Given the description of an element on the screen output the (x, y) to click on. 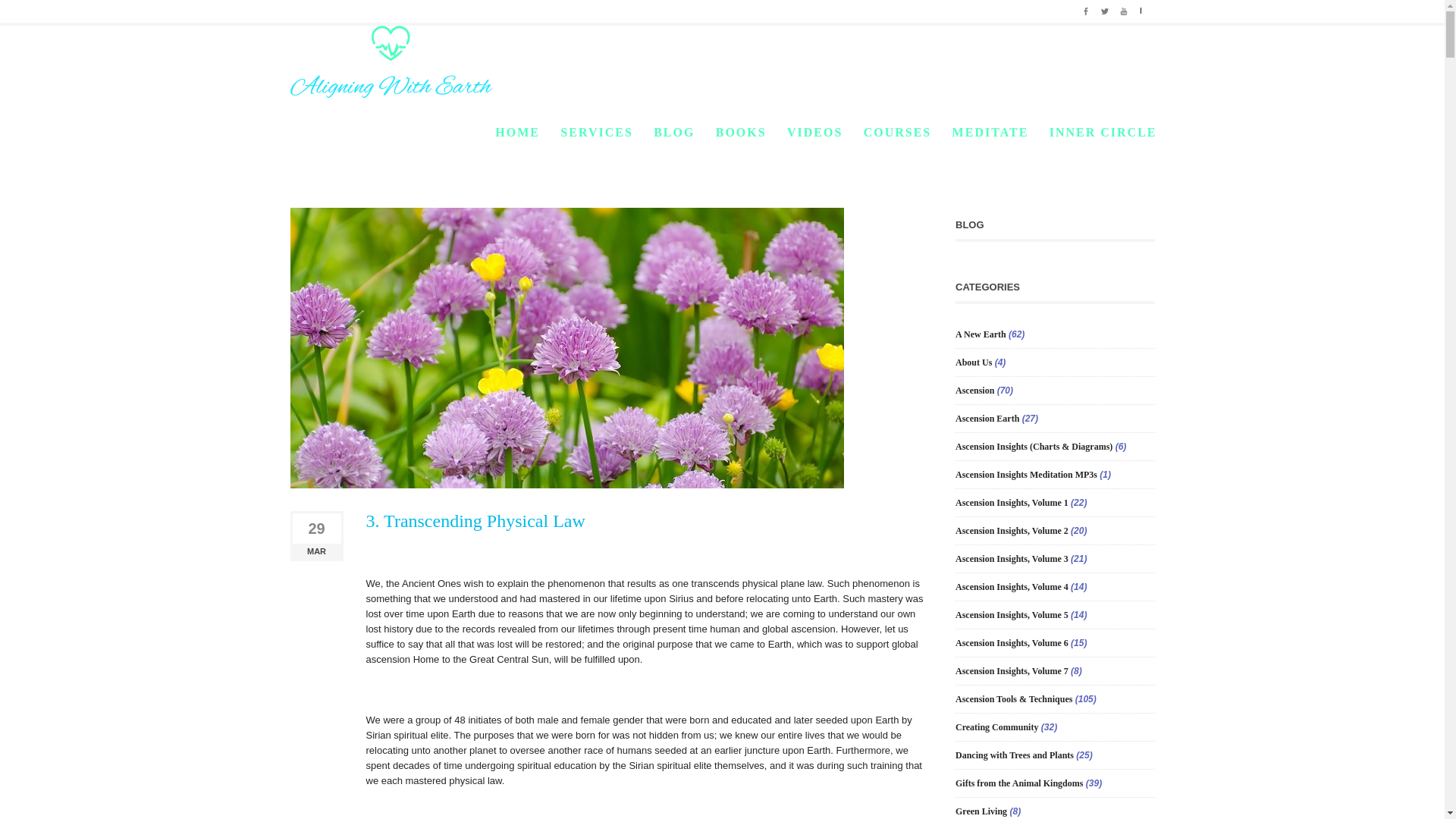
Skip to primary content (550, 132)
INNER CIRCLE (1103, 133)
Twitter (1104, 9)
Home (990, 123)
SKIP TO PRIMARY CONTENT (550, 132)
Ascension (1025, 123)
SKIP TO SECONDARY CONTENT (557, 132)
Aligning With Earth (390, 61)
Youtube (1123, 9)
Youtube (1123, 9)
